Given the description of an element on the screen output the (x, y) to click on. 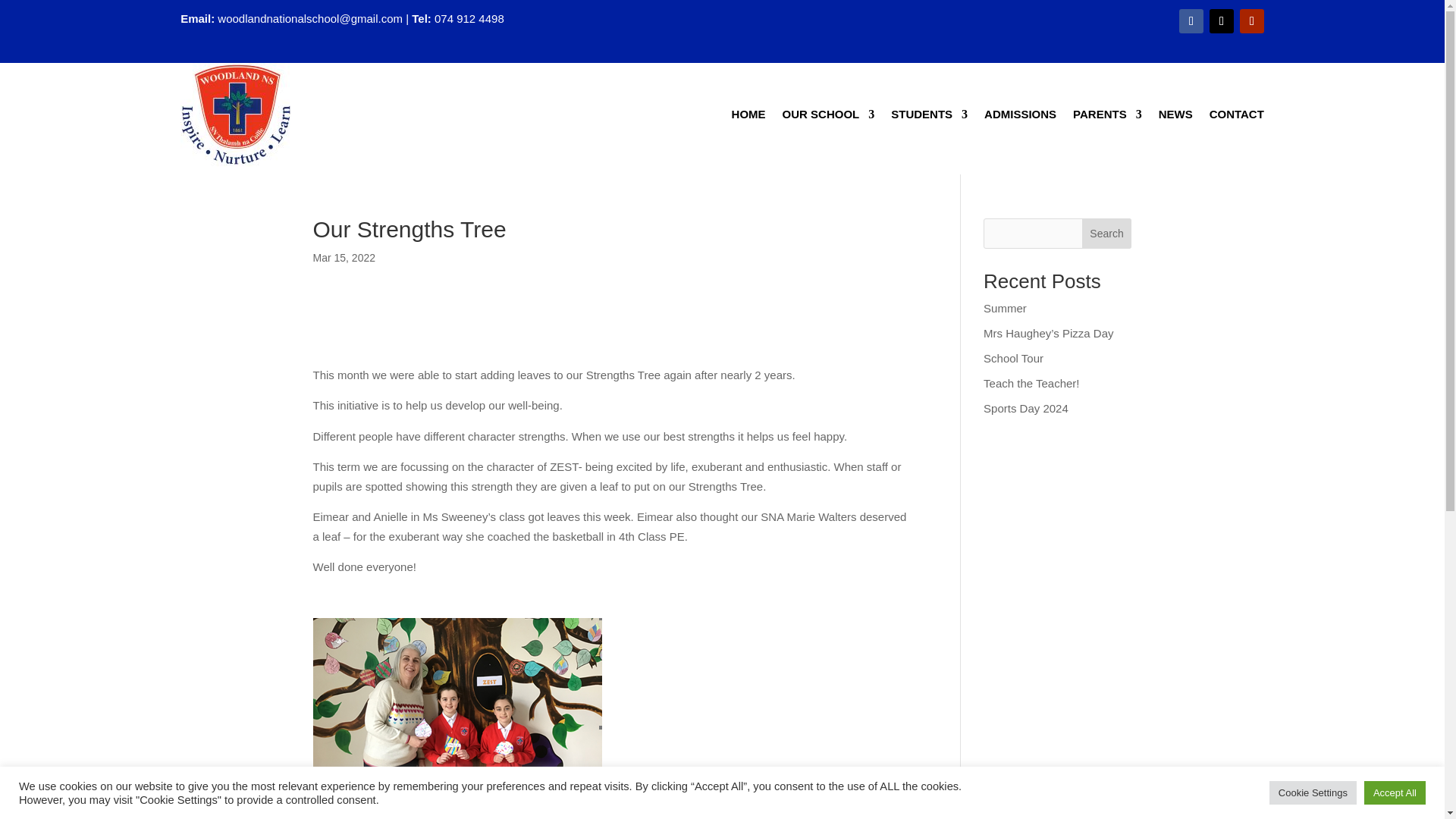
Woodland School Crest April 2024 Website (236, 115)
NEWS (1175, 117)
HOME (748, 117)
ADMISSIONS (1020, 117)
PARENTS (1107, 117)
Follow on Youtube (1251, 21)
zesty (457, 718)
Follow on X (1221, 21)
074 912 4498 (468, 18)
STUDENTS (929, 117)
